Given the description of an element on the screen output the (x, y) to click on. 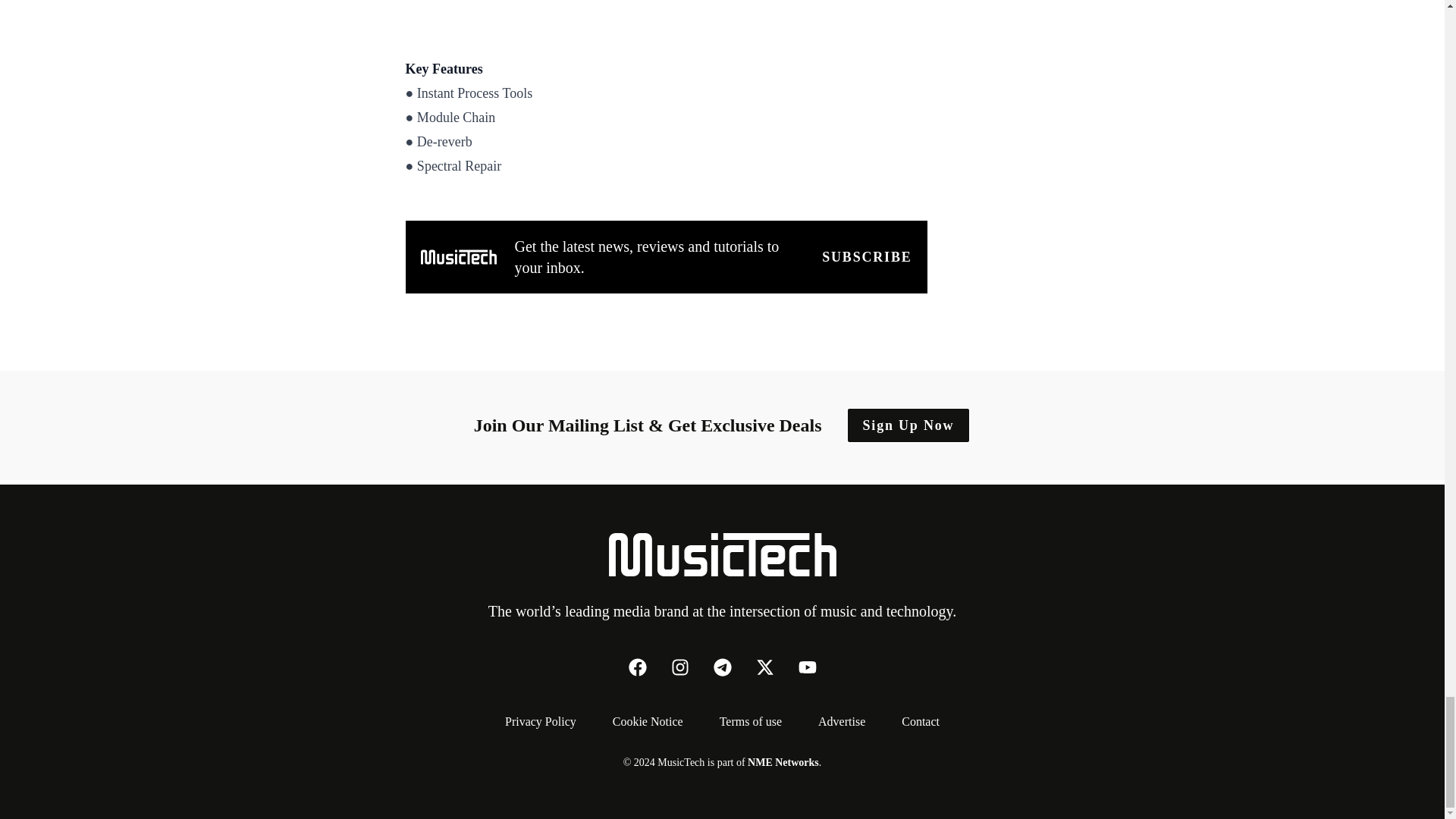
Join our mailing list (866, 256)
SUBSCRIBE (866, 256)
